Given the description of an element on the screen output the (x, y) to click on. 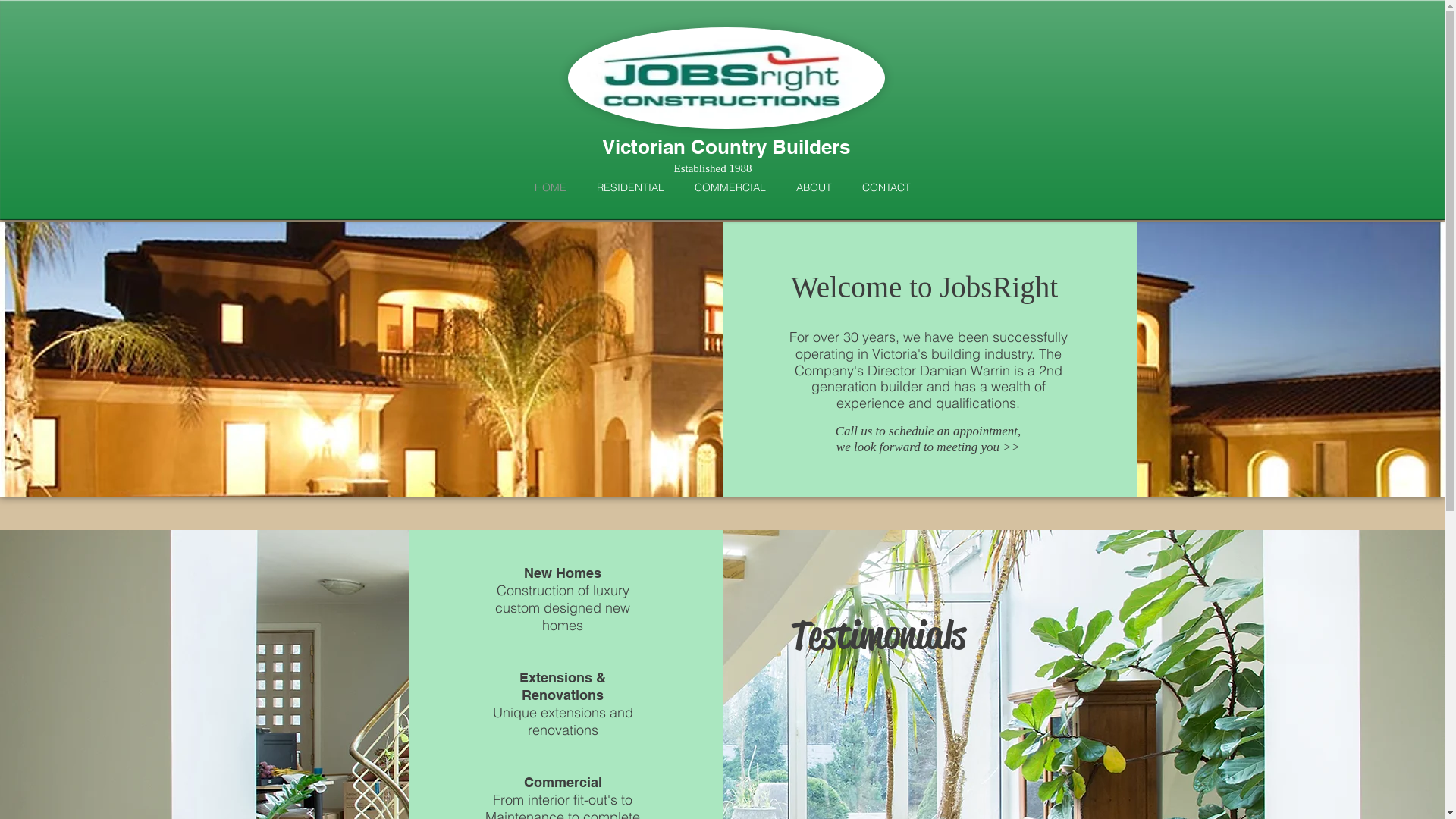
forward to meeting you >> Element type: text (948, 446)
RESIDENTIAL Element type: text (629, 185)
we look  Element type: text (857, 446)
Testimonials Element type: hover (941, 720)
ABOUT Element type: text (814, 185)
COMMERCIAL Element type: text (730, 185)
HOME Element type: text (549, 185)
CONTACT Element type: text (885, 185)
Call us to schedule an appointment, Element type: text (928, 430)
